Given the description of an element on the screen output the (x, y) to click on. 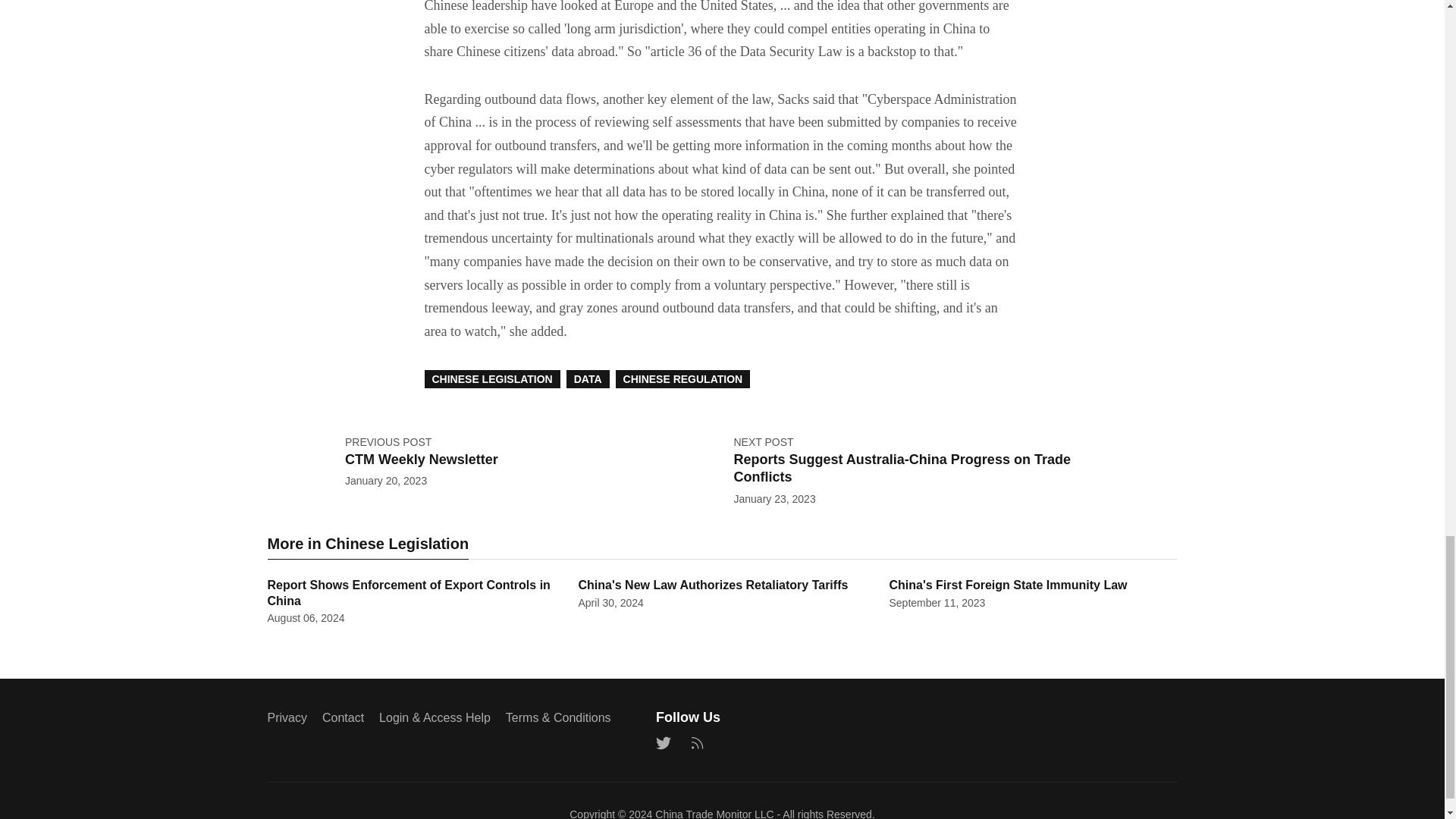
11 September, 2023 (936, 603)
30 April, 2024 (610, 603)
06 August, 2024 (304, 617)
20 January, 2023 (385, 480)
23 January, 2023 (774, 499)
